Given the description of an element on the screen output the (x, y) to click on. 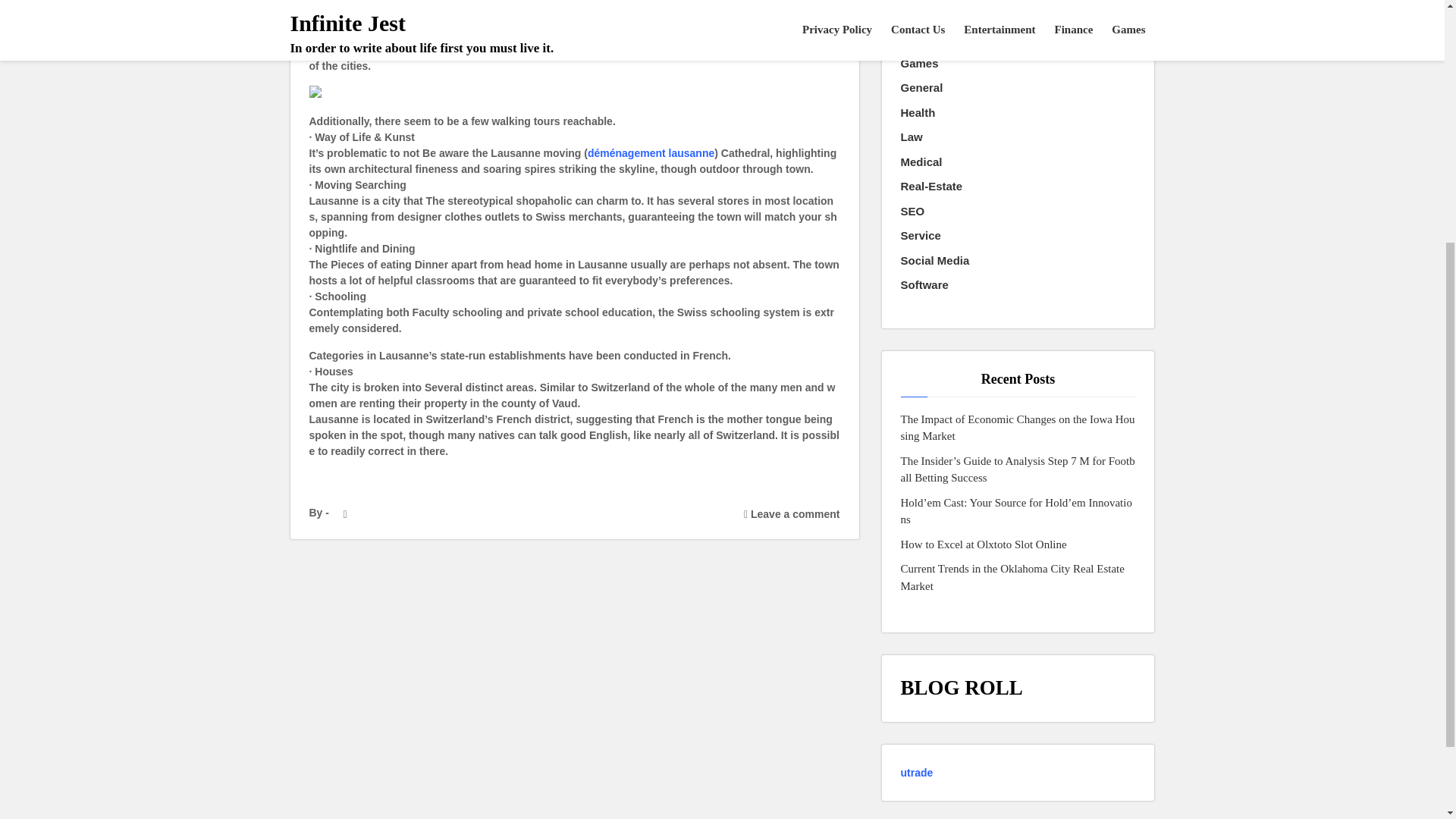
SEO (912, 211)
The Impact of Economic Changes on the Iowa Housing Market (1018, 428)
Software (925, 285)
Law (912, 137)
utrade (917, 772)
Current Trends in the Oklahoma City Real Estate Market (1018, 577)
Games (920, 63)
Entertainment (938, 14)
Real-Estate (931, 186)
How to Excel at Olxtoto Slot Online (984, 544)
